Given the description of an element on the screen output the (x, y) to click on. 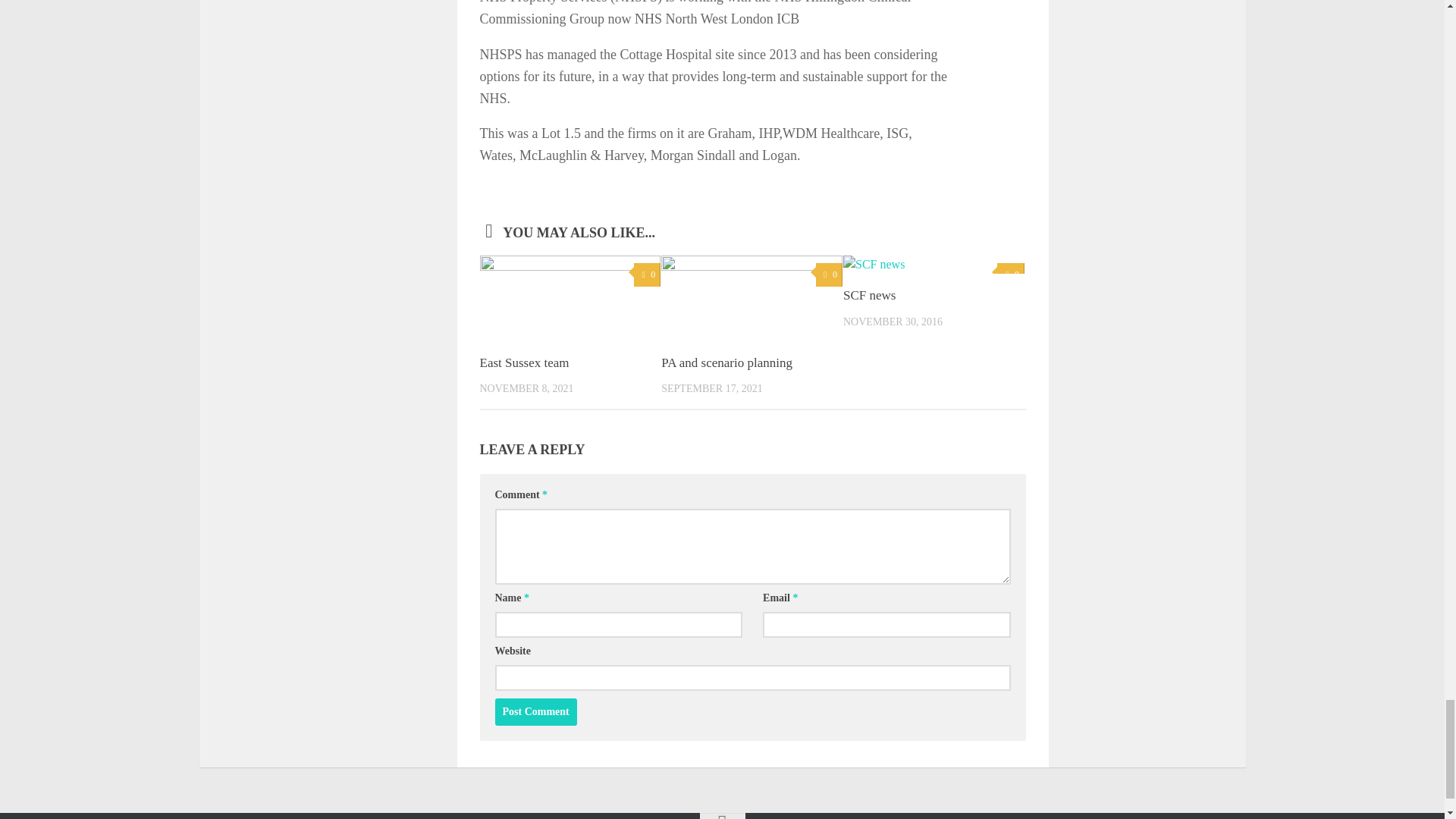
0 (647, 274)
0 (829, 274)
Post Comment (535, 711)
SCF news (869, 295)
0 (1010, 274)
East Sussex team (524, 362)
PA and scenario planning (726, 362)
